Given the description of an element on the screen output the (x, y) to click on. 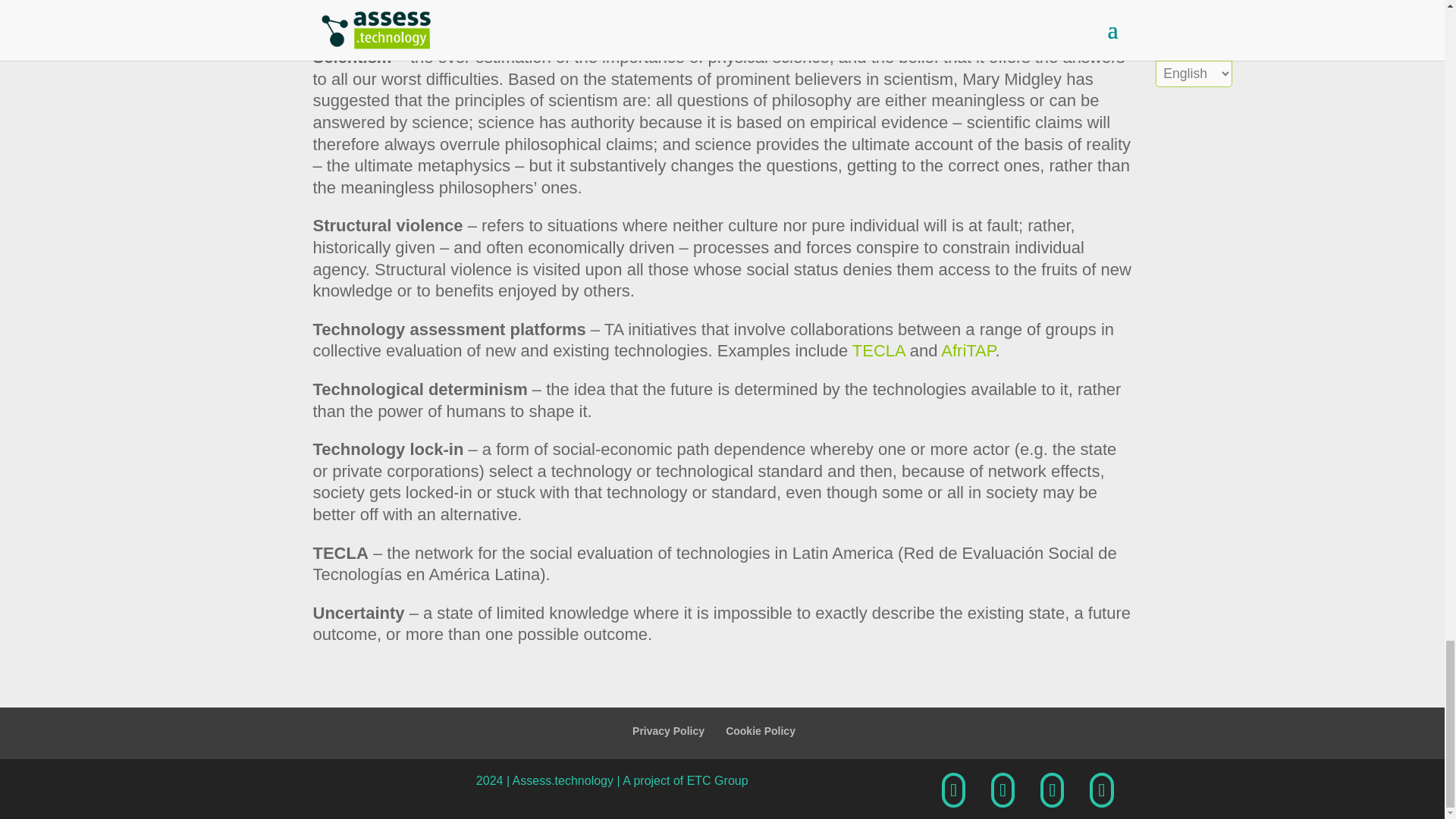
Privacy Policy (667, 730)
TECLA (878, 350)
Cookie Policy (759, 730)
AfriTAP (967, 350)
